Given the description of an element on the screen output the (x, y) to click on. 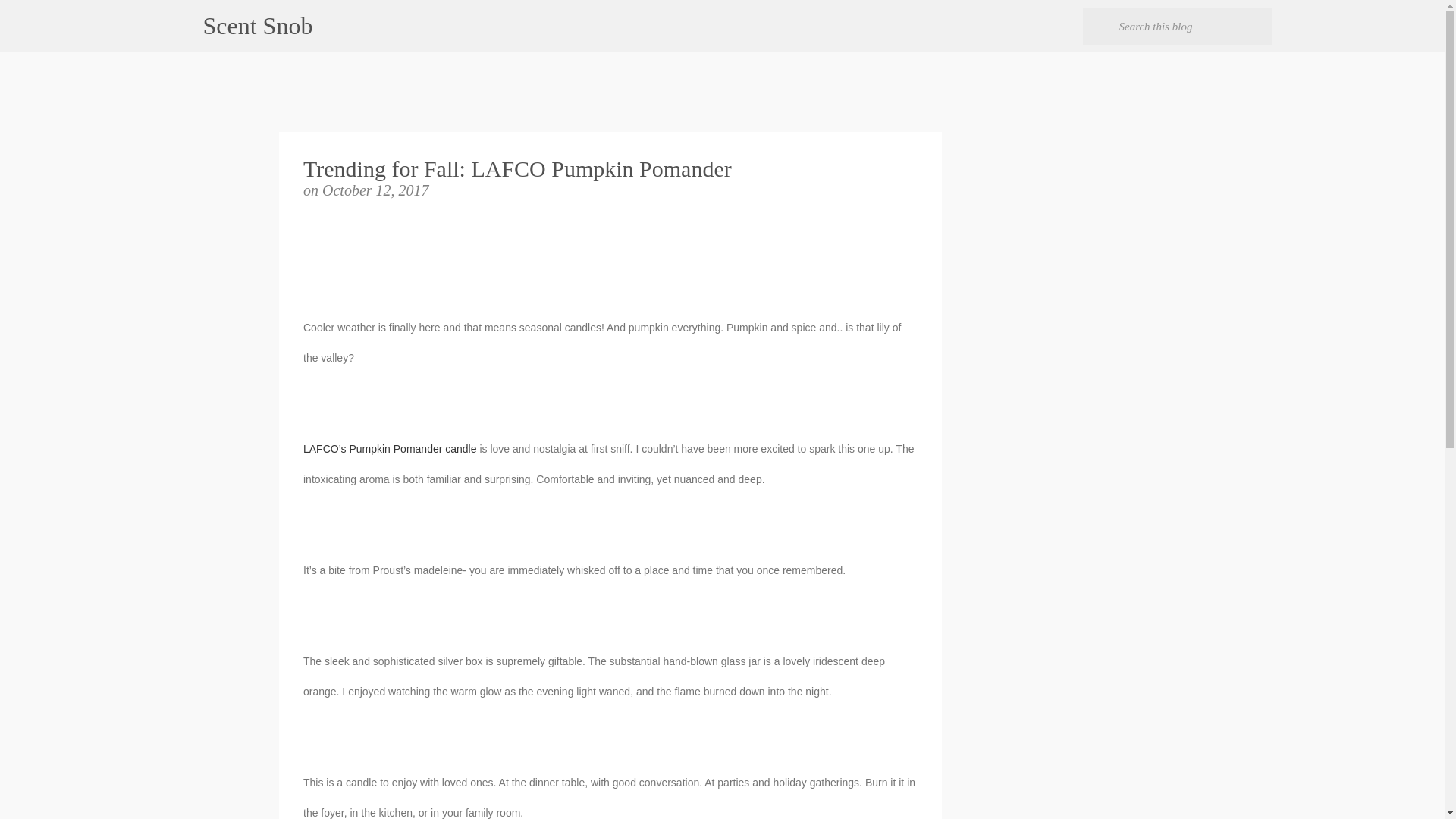
Scent Snob (258, 25)
October 12, 2017 (375, 190)
permanent link (375, 190)
